Given the description of an element on the screen output the (x, y) to click on. 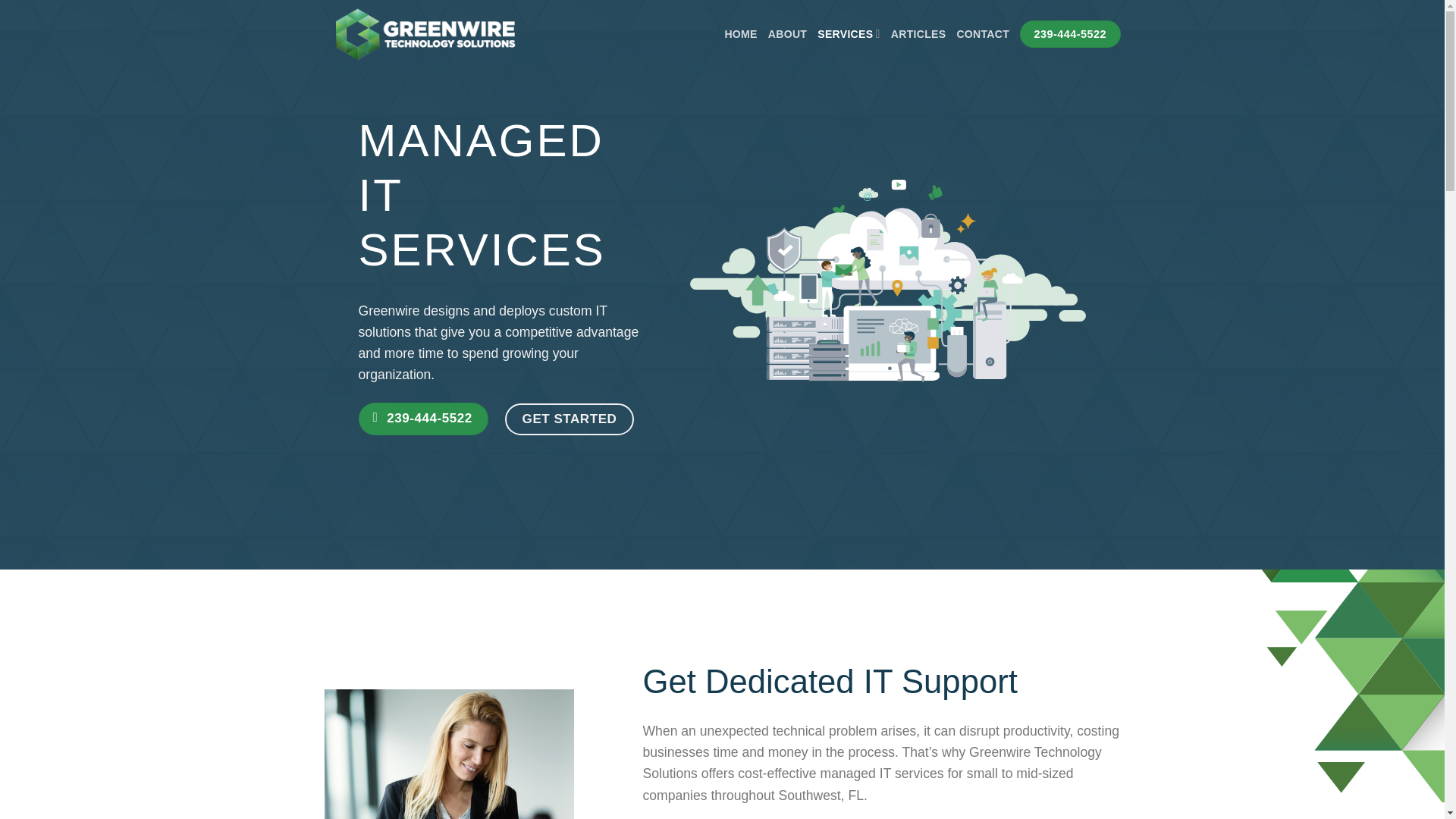
239-444-5522 (1069, 34)
ABOUT (787, 34)
Greenwire Technology Solutions - We make IT easy for you (424, 33)
239-444-5522 (422, 418)
GET STARTED (569, 419)
SERVICES (848, 34)
HOME (740, 34)
ARTICLES (918, 34)
CONTACT (982, 34)
